Given the description of an element on the screen output the (x, y) to click on. 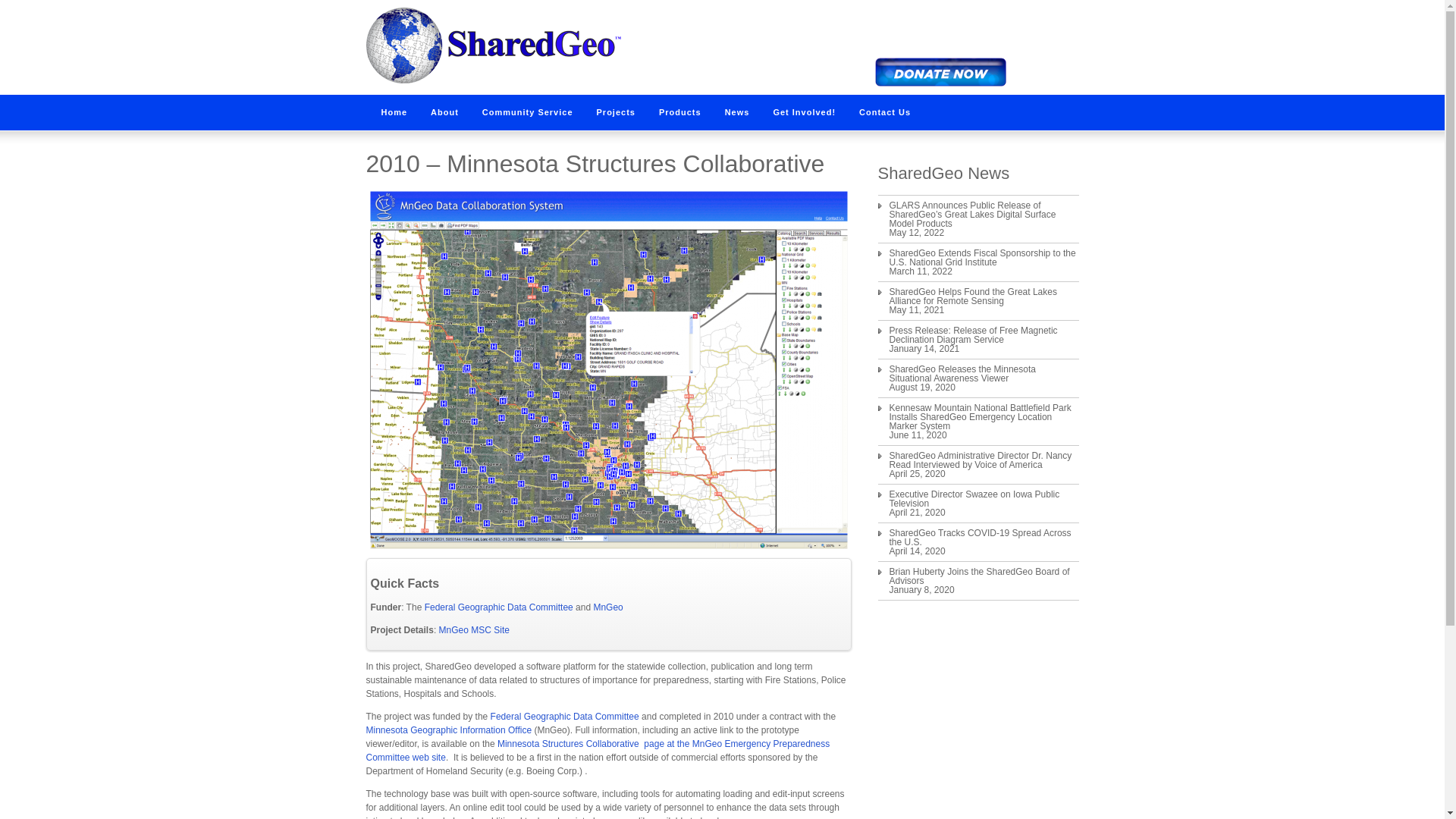
SharedGeo (492, 80)
Search (991, 56)
MnGeo (607, 606)
Minnesota Geographic Information Office (448, 729)
Community Service (527, 112)
Projects (615, 112)
Products (680, 112)
Search (991, 56)
About (444, 112)
Home (392, 112)
Get Involved! (804, 112)
